Given the description of an element on the screen output the (x, y) to click on. 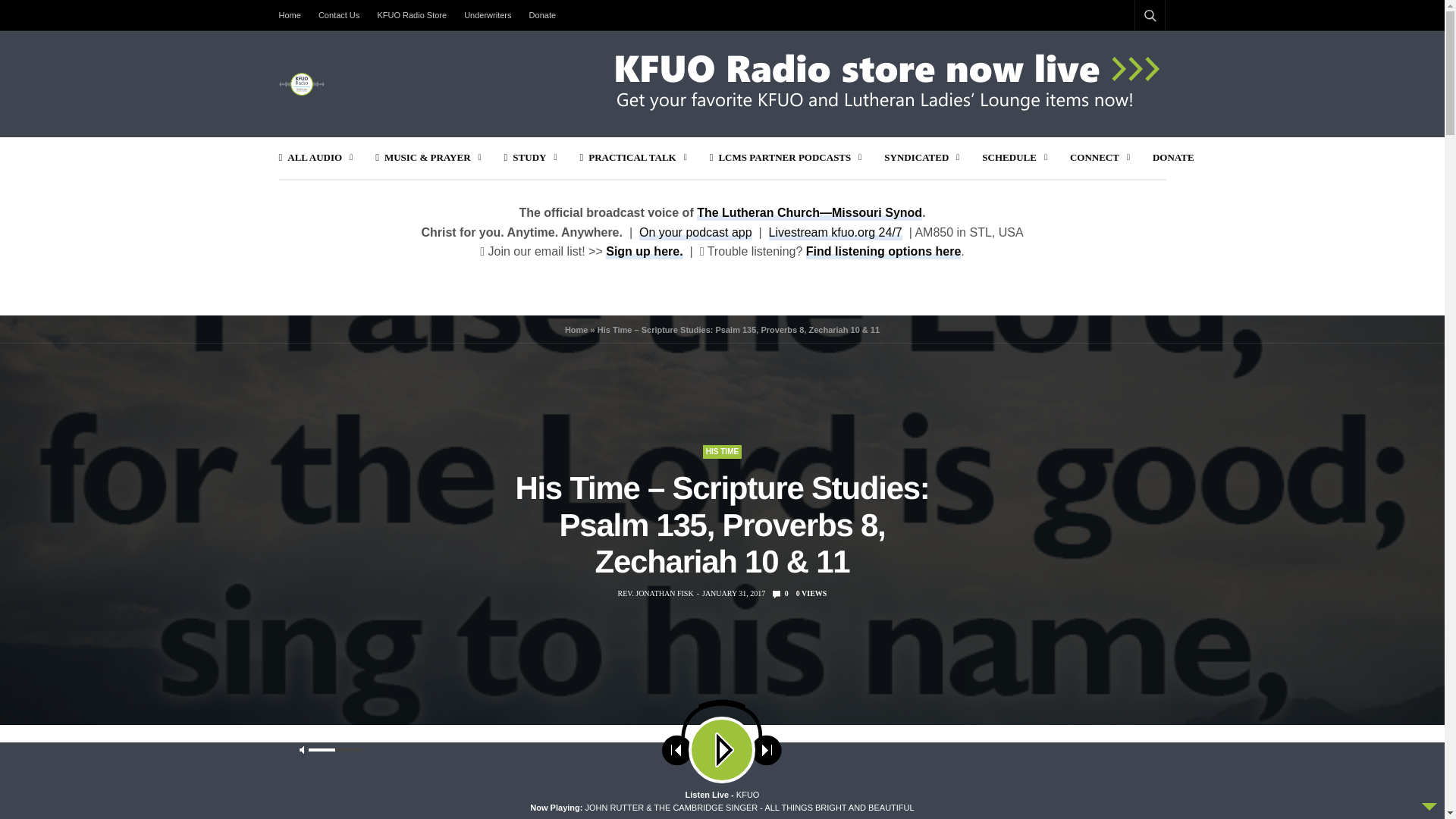
KFUO Radio Store (411, 15)
His Time (722, 451)
Posts by Rev. Jonathan Fisk (655, 593)
Search (1125, 784)
Donate (542, 15)
Underwriters (487, 15)
Contact Us (338, 15)
ALL AUDIO (316, 157)
Search (1129, 51)
Home (293, 15)
